Given the description of an element on the screen output the (x, y) to click on. 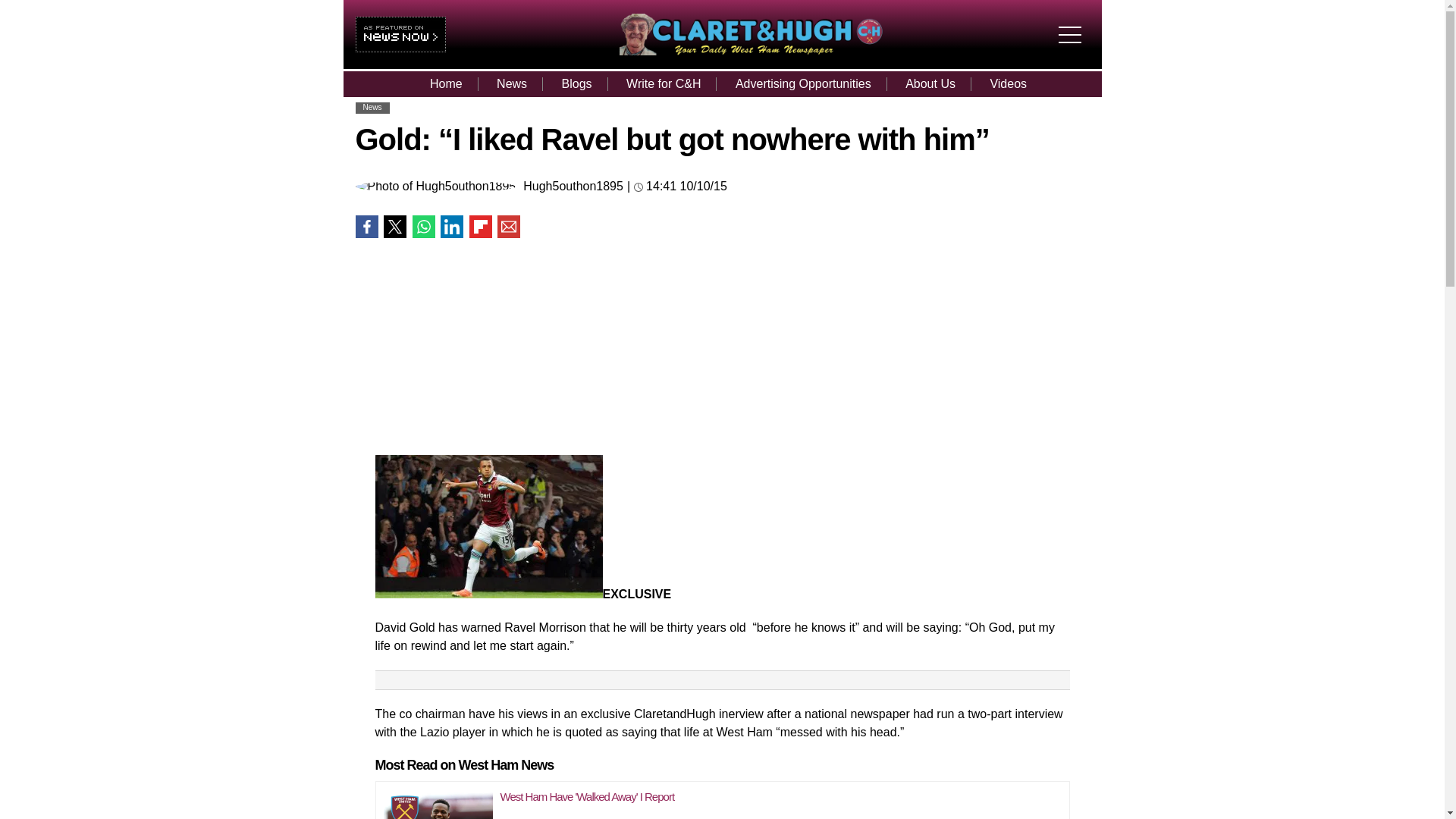
Videos (1008, 83)
Home (445, 83)
Hugh5outhon1895 (572, 186)
About Us (930, 83)
share on Twitter (395, 226)
West Ham Have 'Walked Away' I Report (437, 800)
Back to the homepage (750, 51)
News (371, 107)
West Ham Have 'Walked Away' I Report (587, 796)
Blogs (577, 83)
share on WhatsApp (423, 226)
share on Email (508, 226)
Advertising Opportunities (803, 83)
News (511, 83)
share on LinkedIn (452, 226)
